Given the description of an element on the screen output the (x, y) to click on. 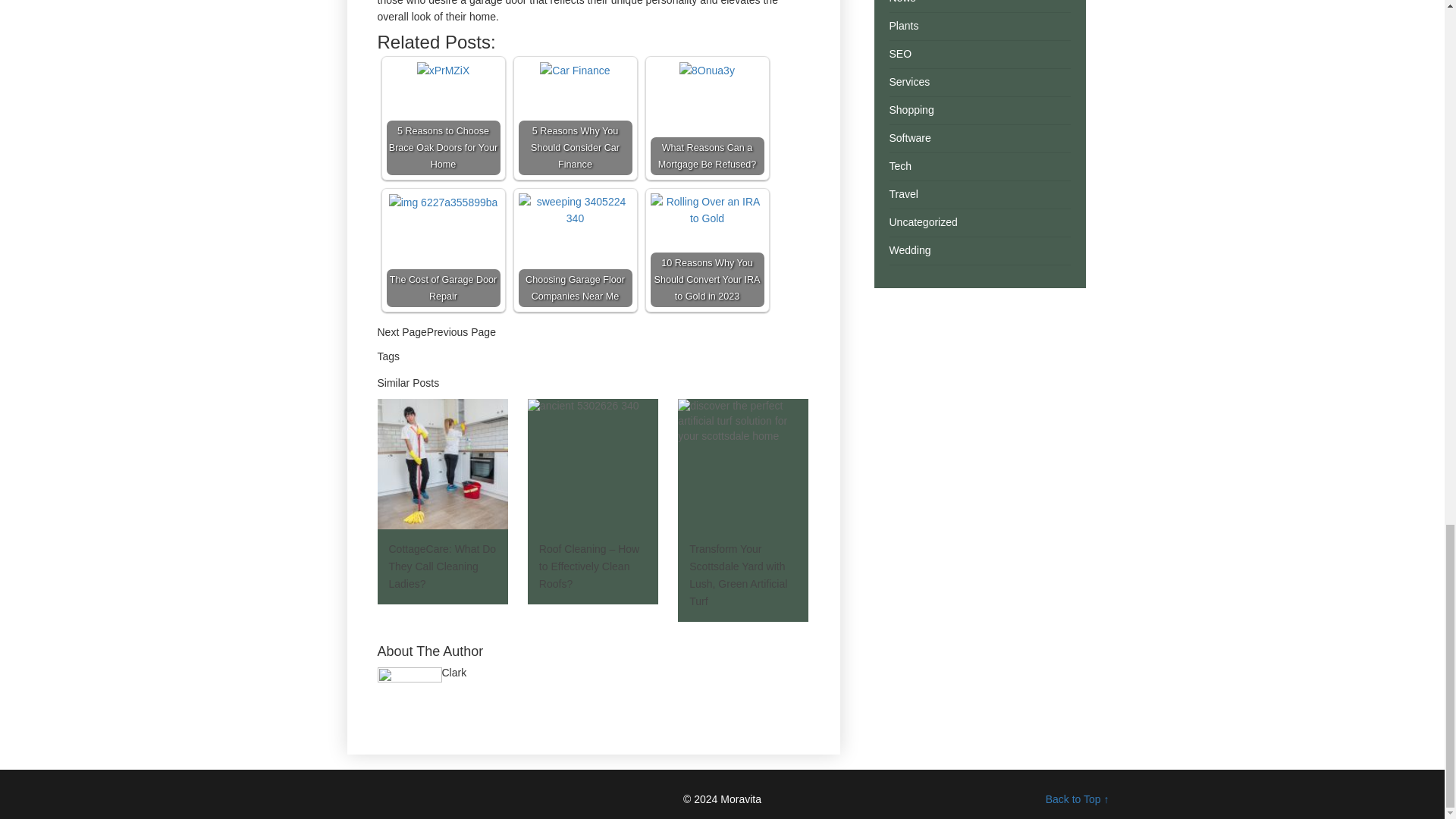
Choosing Garage Floor Companies Near Me (574, 250)
What Reasons Can a Mortgage Be Refused? (707, 118)
The Cost of Garage Door Repair (442, 202)
Choosing Garage Floor Companies Near Me (574, 209)
5 Reasons Why You Should Consider Car Finance (575, 70)
10 Reasons Why You Should Convert Your IRA to Gold in 2023 (707, 250)
5 Reasons to Choose Brace Oak Doors for Your Home (443, 118)
10 Reasons Why You Should Convert Your IRA to Gold in 2023 (707, 209)
The Cost of Garage Door Repair (443, 250)
5 Reasons Why You Should Consider Car Finance (574, 118)
